Given the description of an element on the screen output the (x, y) to click on. 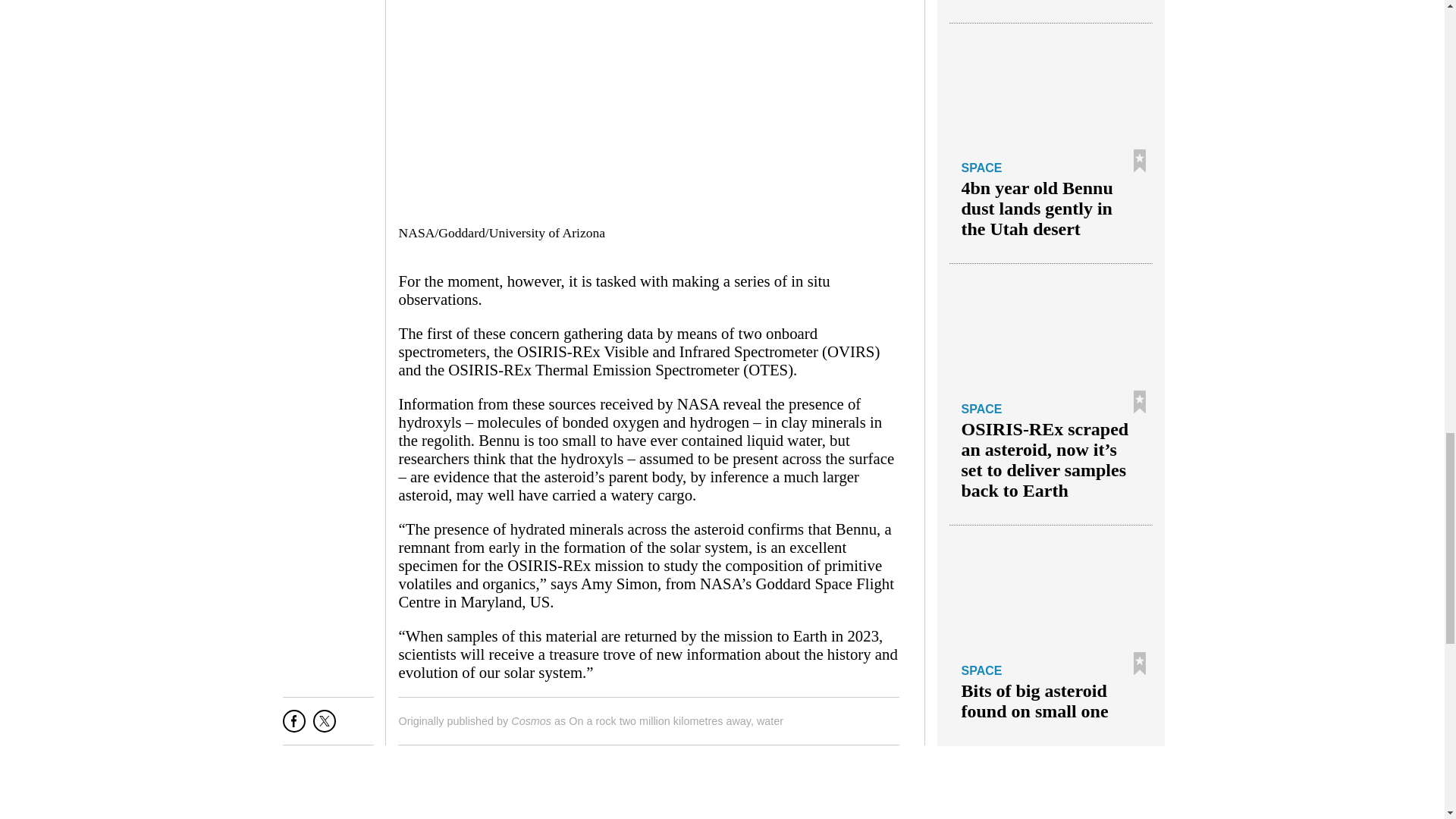
On a rock two million kilometres away, water (676, 720)
Share on Facebook (293, 726)
on a rock two million kilometres away, water 1 (647, 107)
Cosmos (531, 720)
Tweet (324, 726)
